Given the description of an element on the screen output the (x, y) to click on. 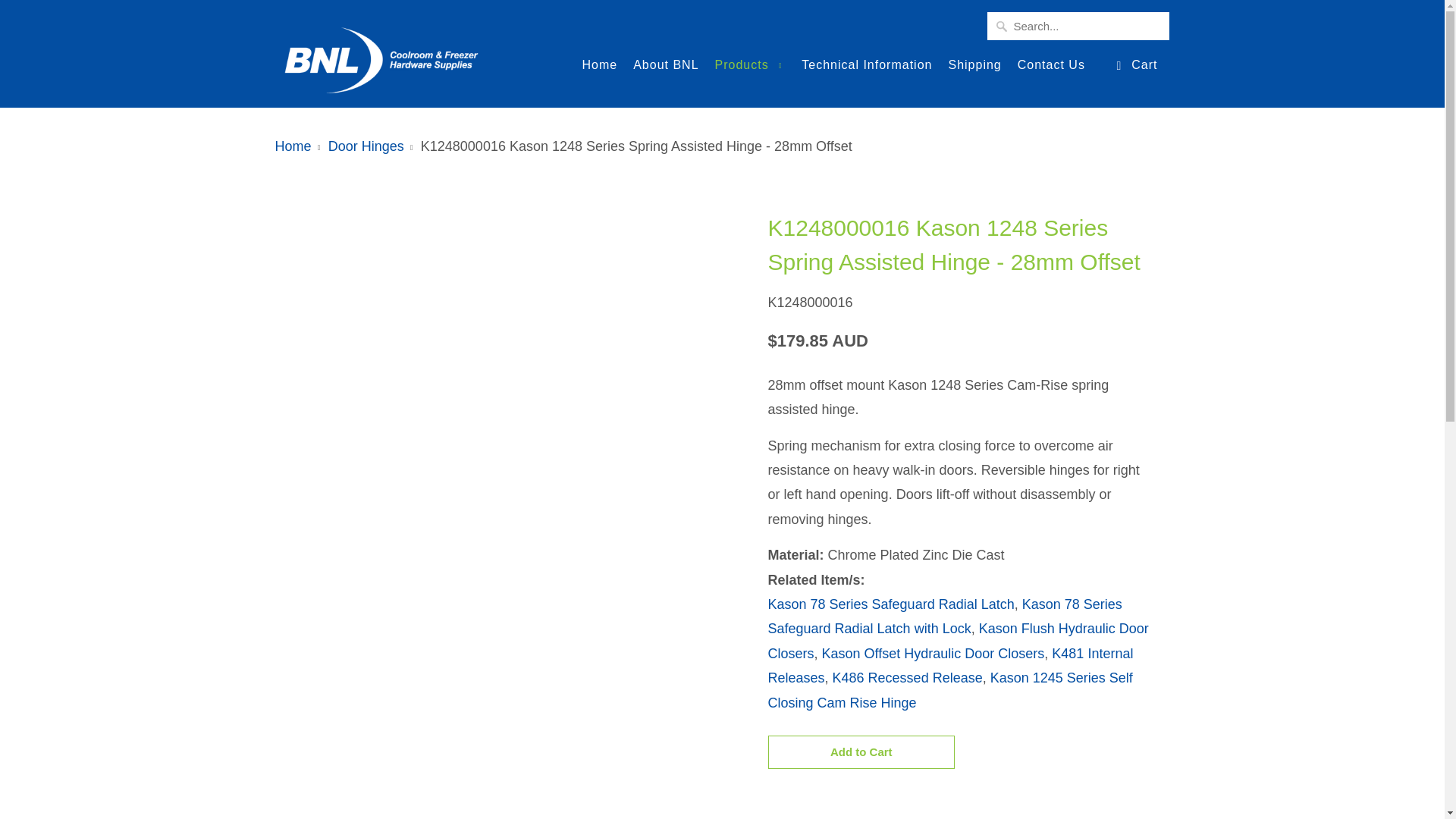
Kason Offset Hydraulic Door Closer (933, 653)
Door Hinges (958, 193)
About BNL (665, 68)
Kason Flush Hydraulic Door Closer (957, 640)
K481 Kason Safety Glow Push Release (949, 665)
BNL Supply (293, 145)
Cart (1135, 64)
Shipping (974, 68)
Products (750, 69)
BNL Supply (380, 53)
